Given the description of an element on the screen output the (x, y) to click on. 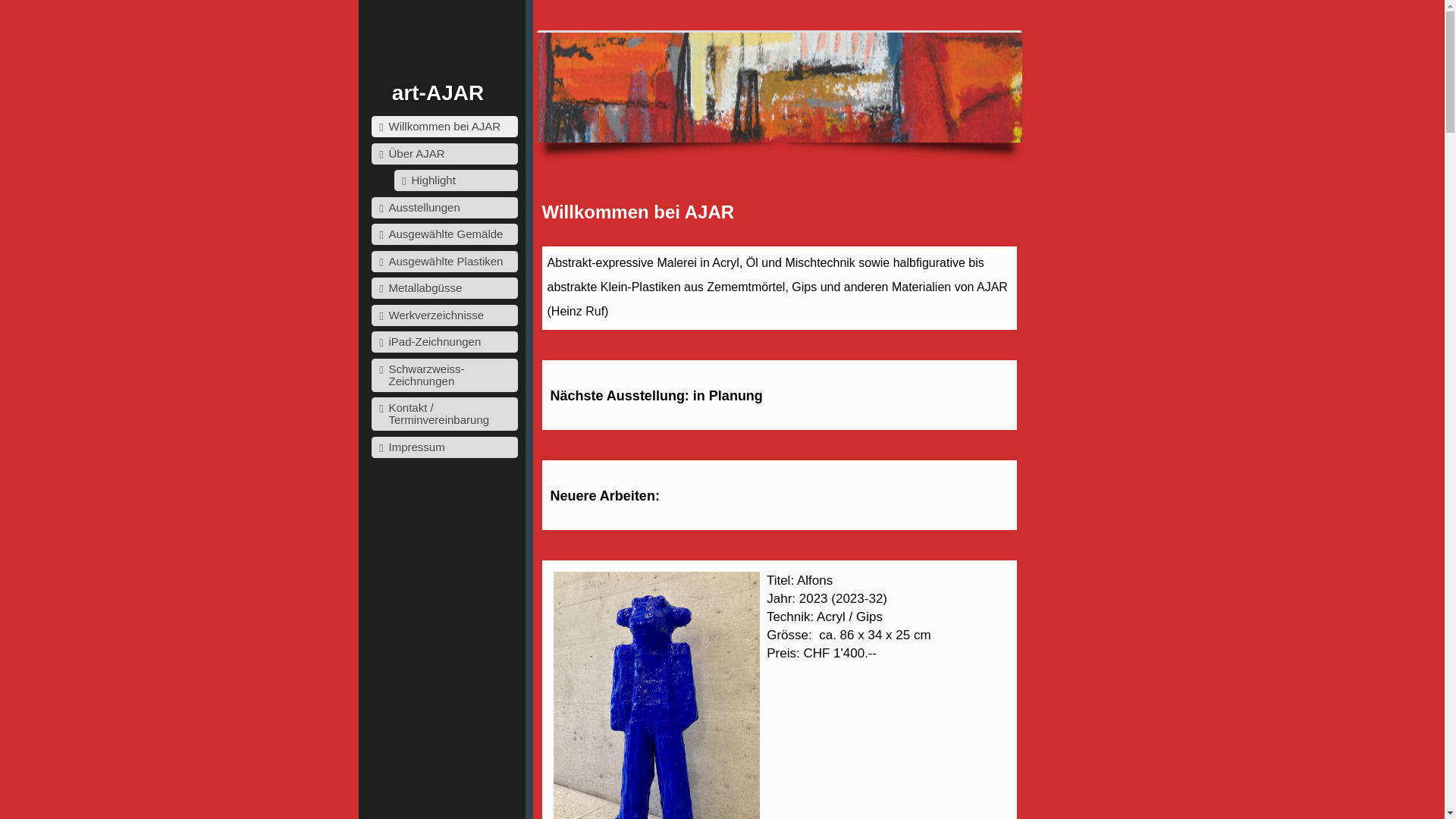
Kontakt / Terminvereinbarung Element type: text (444, 413)
Werkverzeichnisse Element type: text (444, 315)
Highlight Element type: text (455, 180)
iPad-Zeichnungen Element type: text (444, 341)
Impressum Element type: text (444, 447)
art-AJAR Element type: text (437, 91)
Ausstellungen Element type: text (444, 207)
Schwarzweiss-Zeichnungen Element type: text (444, 374)
Willkommen bei AJAR Element type: text (444, 126)
